Given the description of an element on the screen output the (x, y) to click on. 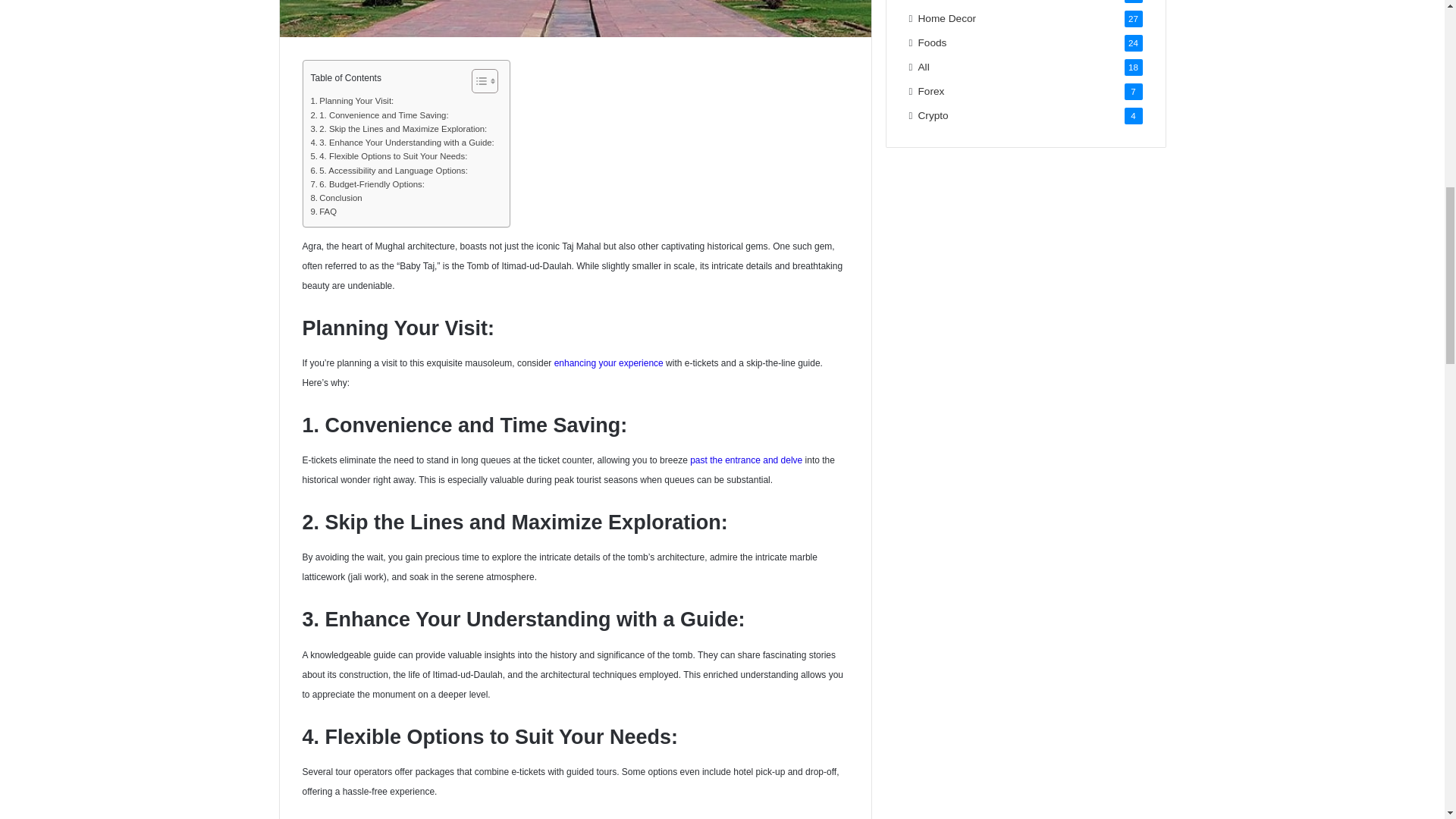
FAQ (324, 211)
Planning Your Visit: (352, 100)
3. Enhance Your Understanding with a Guide: (403, 142)
2. Skip the Lines and Maximize Exploration: (399, 128)
past the entrance and delve (746, 460)
enhancing your experience (608, 362)
2. Skip the Lines and Maximize Exploration: (399, 128)
1. Convenience and Time Saving: (379, 115)
Planning Your Visit: (352, 100)
Conclusion (336, 197)
3. Enhance Your Understanding with a Guide: (403, 142)
4. Flexible Options to Suit Your Needs: (389, 155)
5. Accessibility and Language Options: (389, 170)
1. Convenience and Time Saving: (379, 115)
4. Flexible Options to Suit Your Needs: (389, 155)
